Given the description of an element on the screen output the (x, y) to click on. 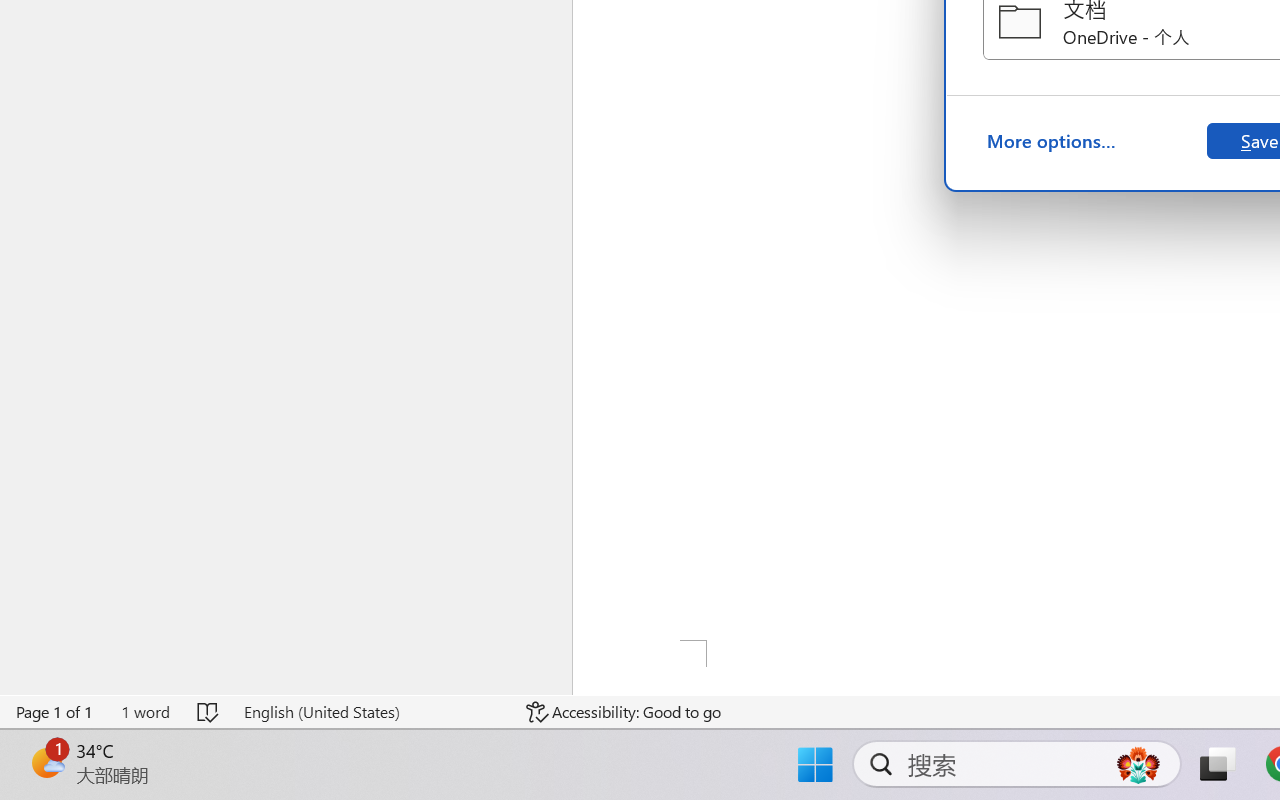
Spelling and Grammar Check No Errors (208, 712)
Language English (United States) (370, 712)
AutomationID: DynamicSearchBoxGleamImage (1138, 764)
Word Count 1 word (145, 712)
AutomationID: BadgeAnchorLargeTicker (46, 762)
Page Number Page 1 of 1 (55, 712)
Accessibility Checker Accessibility: Good to go (623, 712)
